Given the description of an element on the screen output the (x, y) to click on. 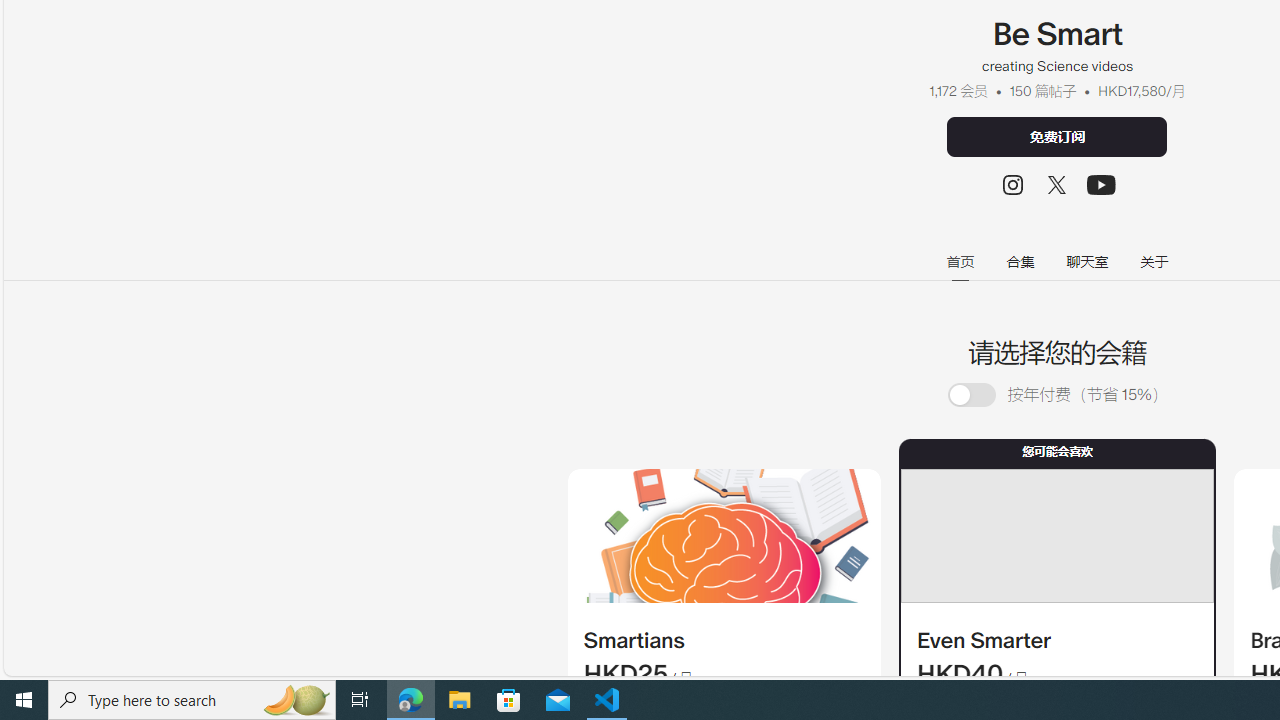
Class: sc-1a2jhmw-3 djwfLg (1056, 536)
